Given the description of an element on the screen output the (x, y) to click on. 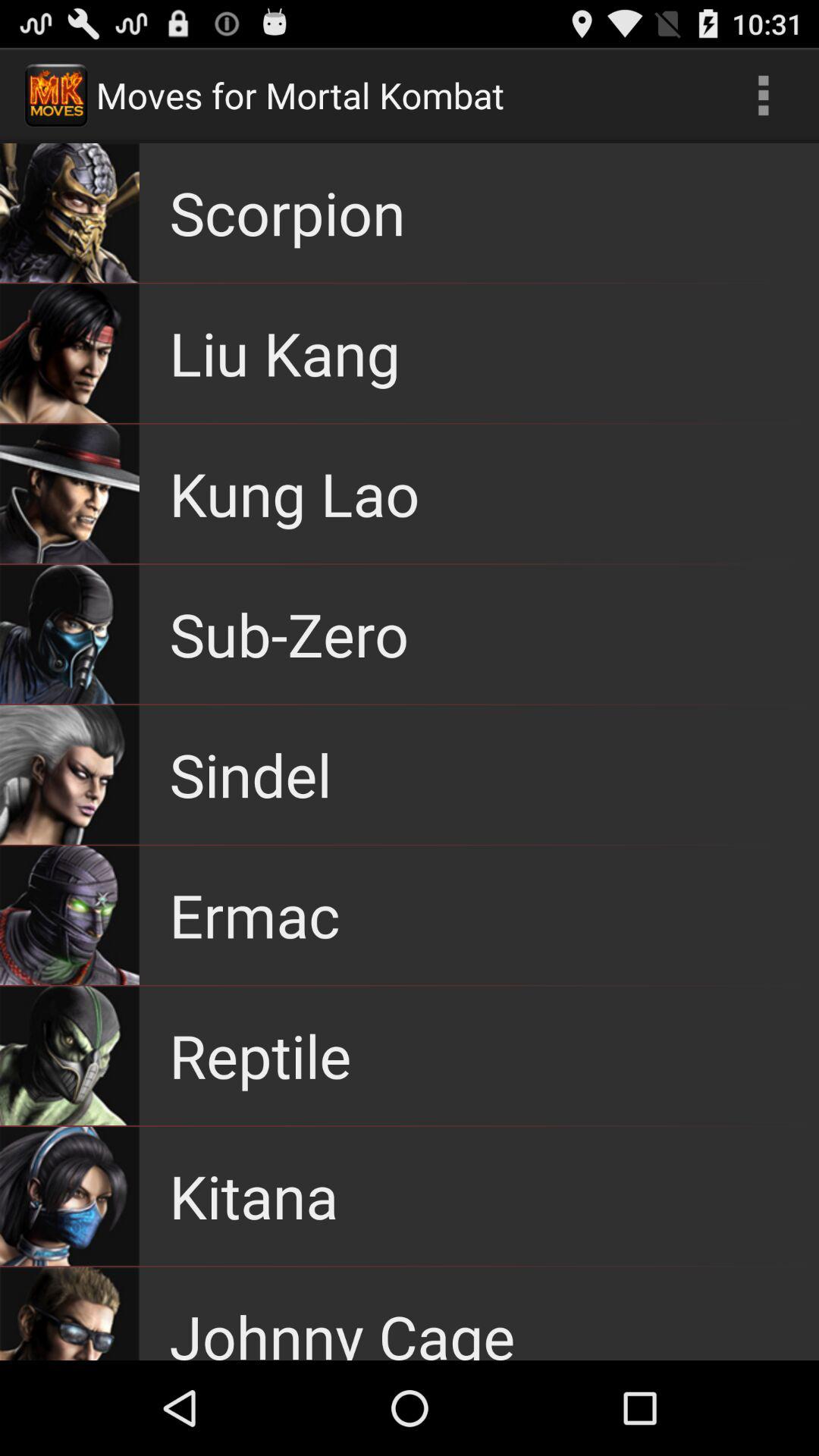
flip to the scorpion (287, 212)
